Given the description of an element on the screen output the (x, y) to click on. 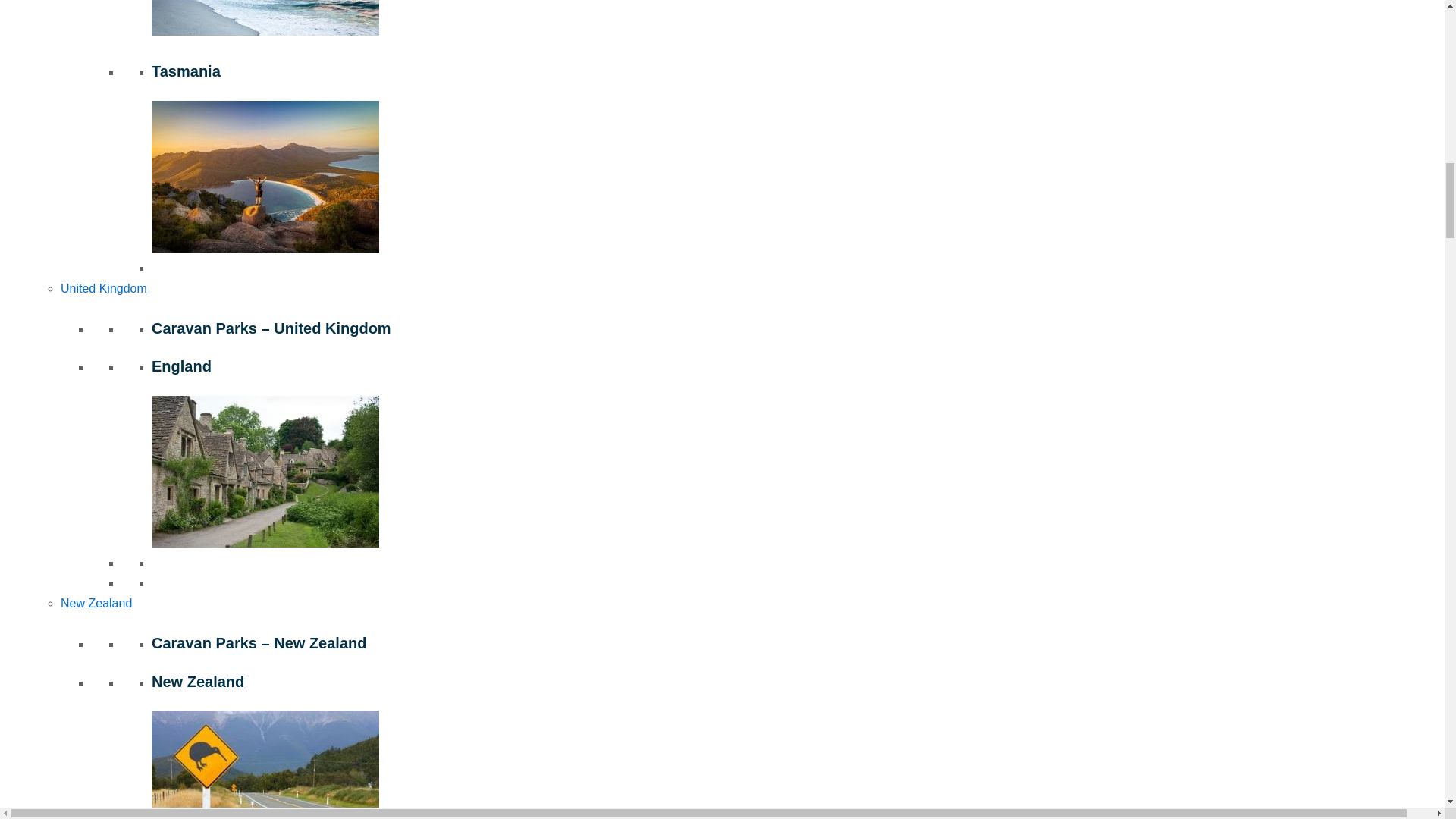
New Zealand (96, 603)
United Kingdom (104, 287)
